Given the description of an element on the screen output the (x, y) to click on. 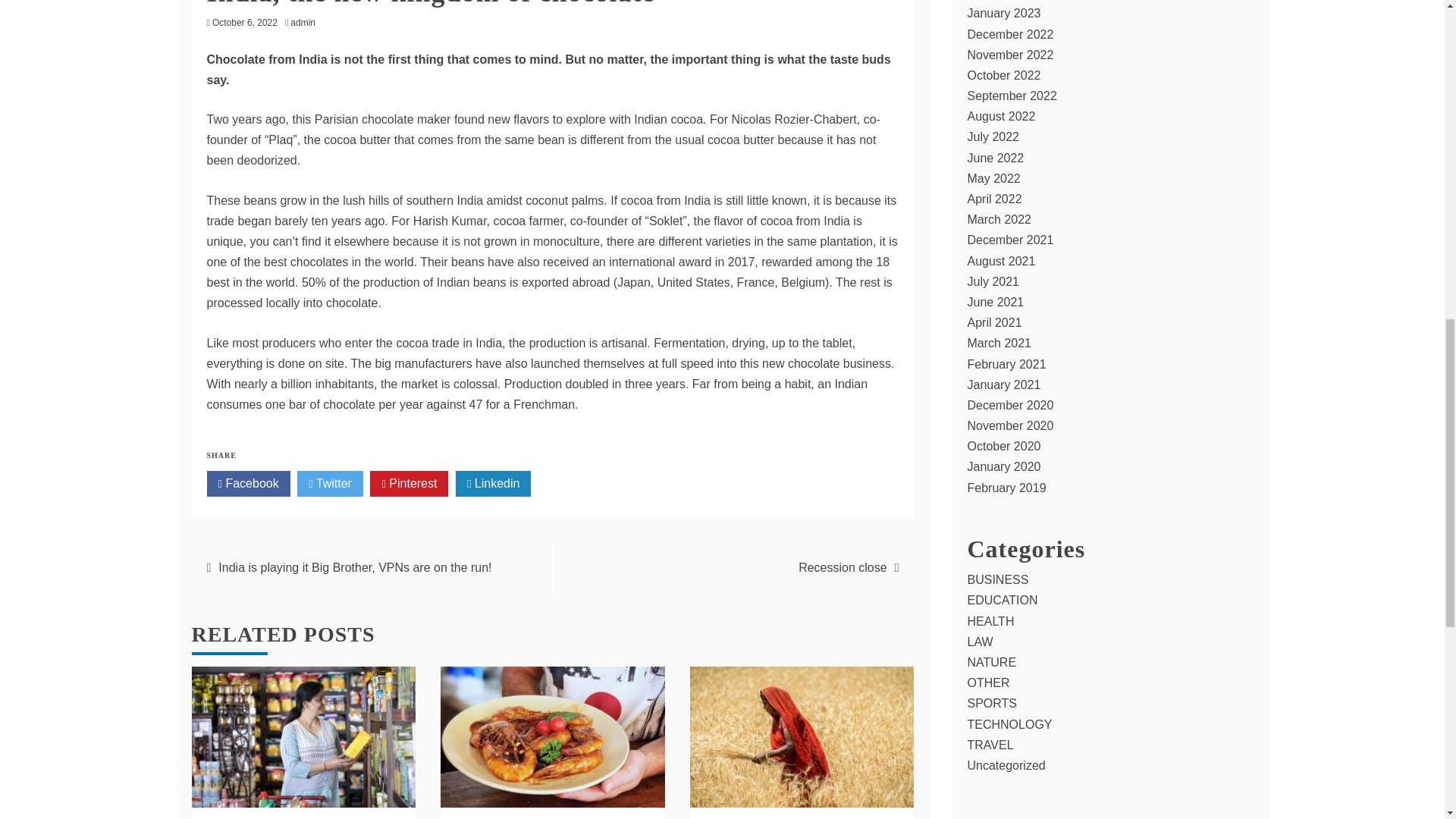
October 6, 2022 (245, 22)
Recession close (841, 567)
Facebook (247, 483)
Linkedin (493, 483)
Pinterest (408, 483)
India is playing it Big Brother, VPNs are on the run! (355, 567)
Twitter (329, 483)
admin (306, 22)
